Given the description of an element on the screen output the (x, y) to click on. 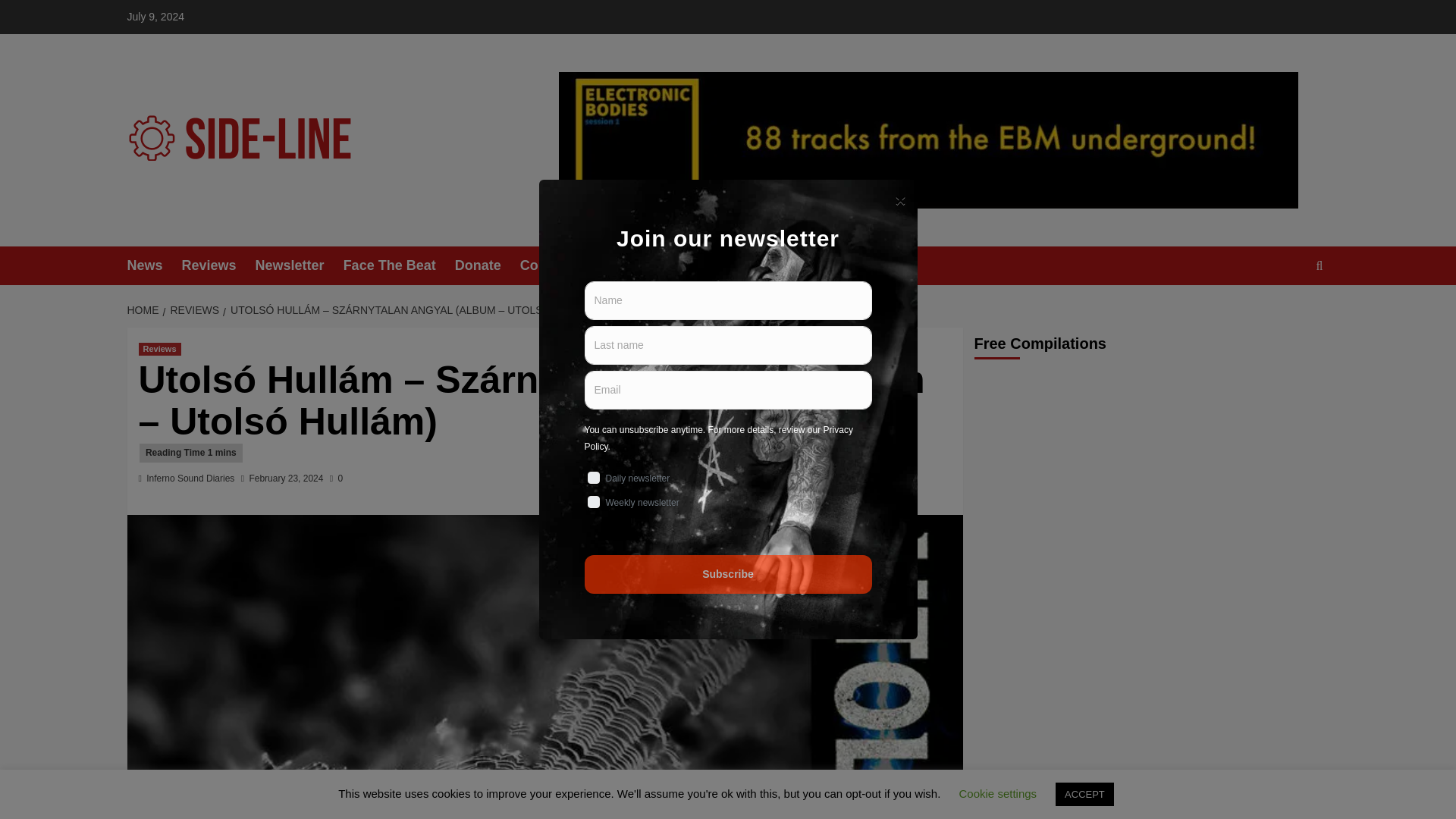
Reviews (219, 265)
HOME (145, 309)
Search (1283, 312)
February 23, 2024 (285, 478)
Face The Beat (398, 265)
Contact Us (565, 265)
Crypto News (807, 265)
Sponsor Us (658, 265)
News (155, 265)
Newsletter (299, 265)
Donate (486, 265)
Reviews (159, 349)
REVIEWS (191, 309)
Staff (730, 265)
0 (336, 478)
